Given the description of an element on the screen output the (x, y) to click on. 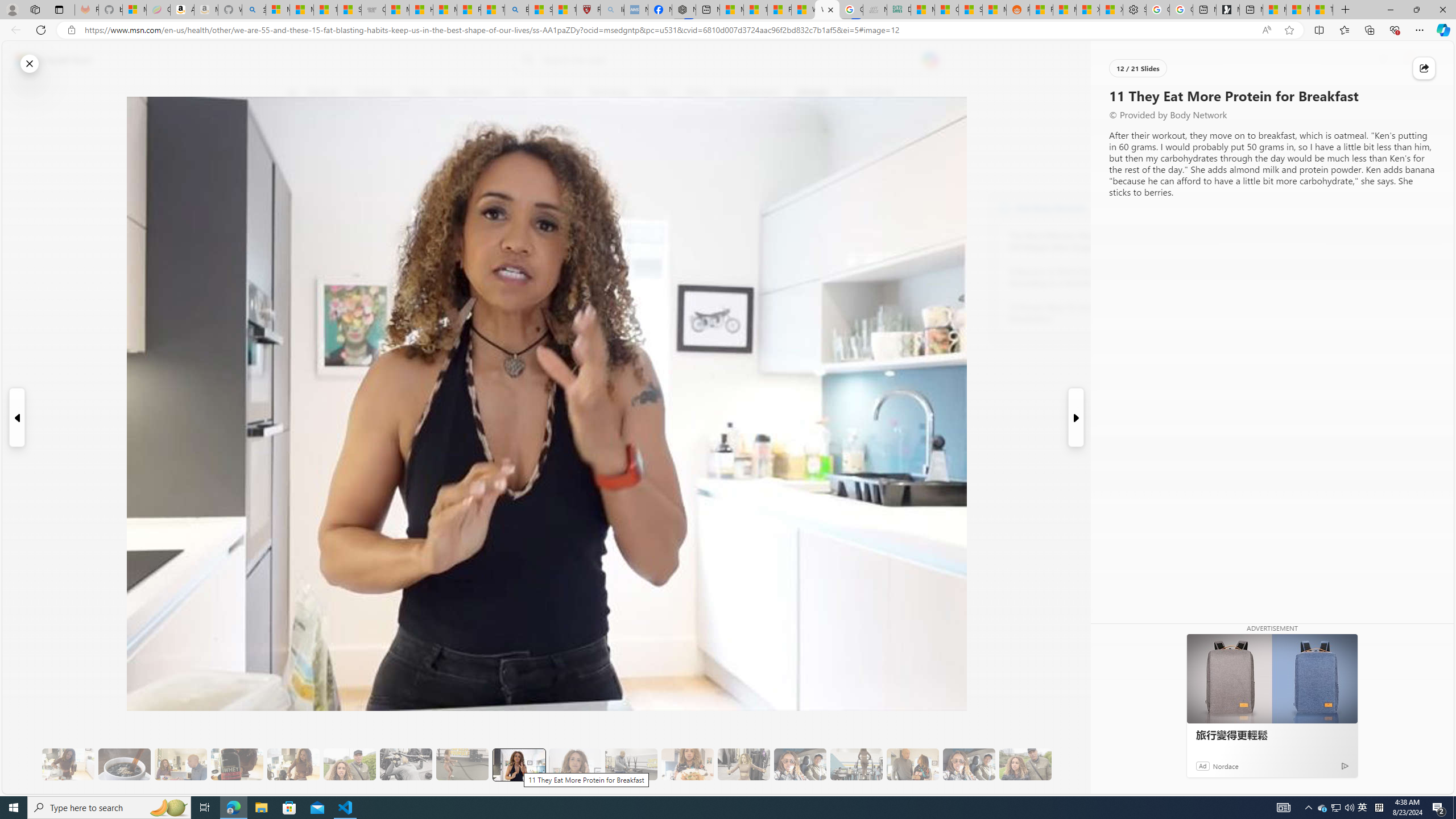
Crime (657, 92)
Entertainment (753, 92)
Food & Drink (865, 92)
15 They Also Indulge in a Low-Calorie Sweet Treat (743, 764)
Lifestyle (812, 92)
Next Slide (1076, 417)
18 It's More Fun Doing It with Someone Else (912, 764)
8 Be Mindful of Coffee (124, 764)
